Given the description of an element on the screen output the (x, y) to click on. 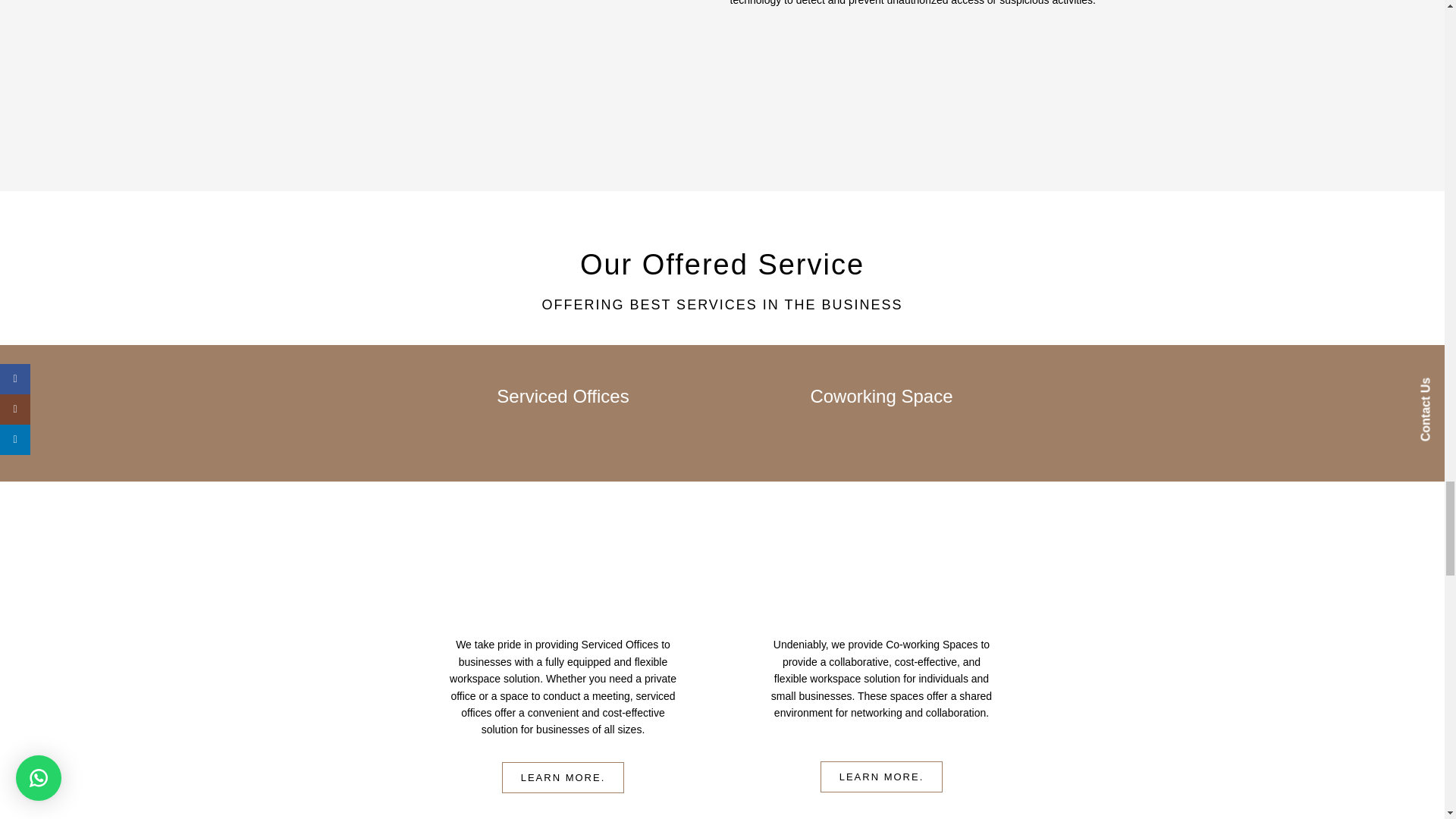
LEARN MORE. (882, 776)
LEARN MORE. (563, 777)
Coworking Space GAL (882, 776)
